Given the description of an element on the screen output the (x, y) to click on. 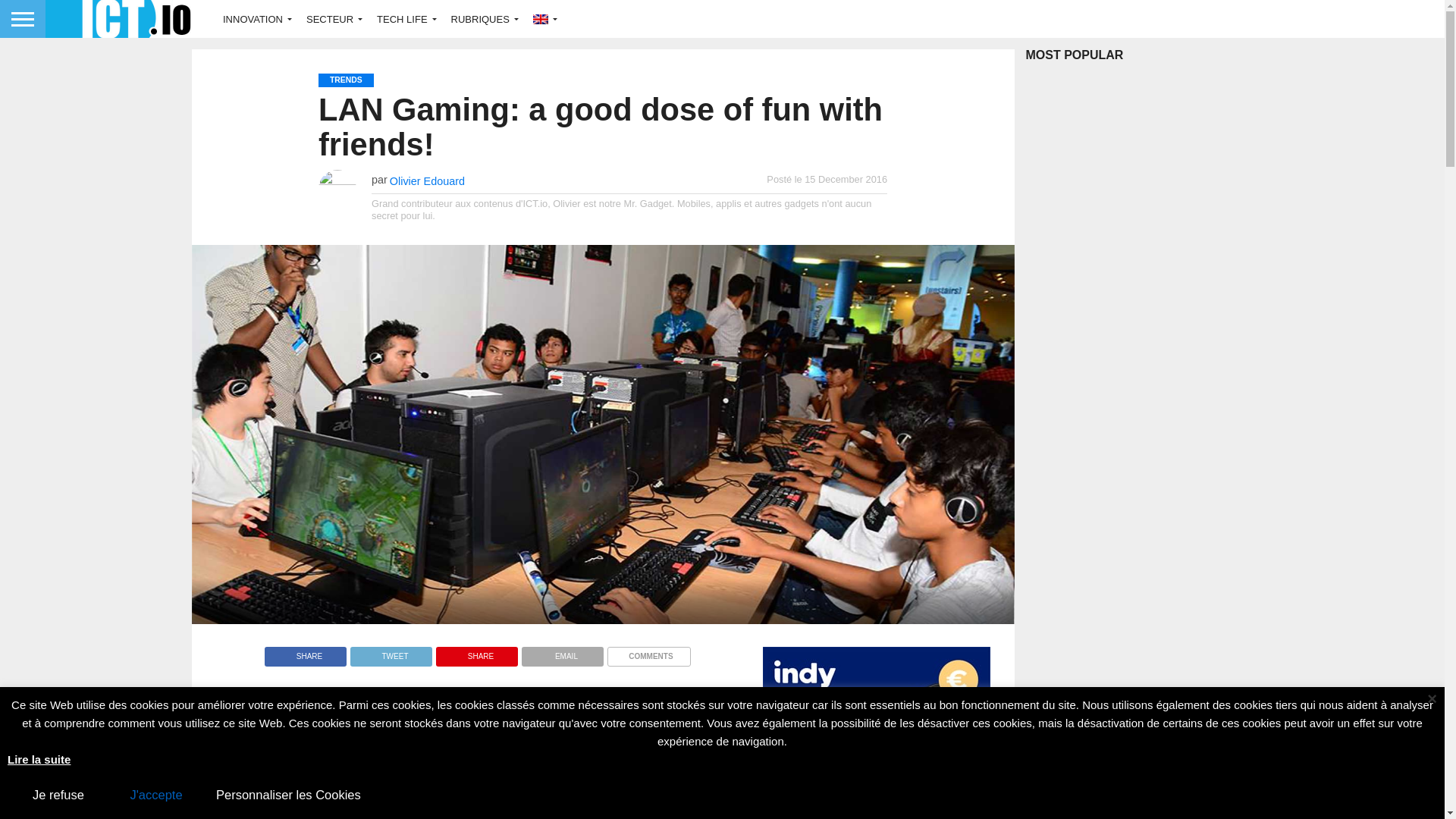
TECH LIFE (402, 18)
Pin This Post (476, 652)
Tweet This Post (390, 652)
INNOVATION (253, 18)
Posts by Olivier Edouard (427, 181)
Share on Facebook (305, 652)
SECTEUR (330, 18)
